Given the description of an element on the screen output the (x, y) to click on. 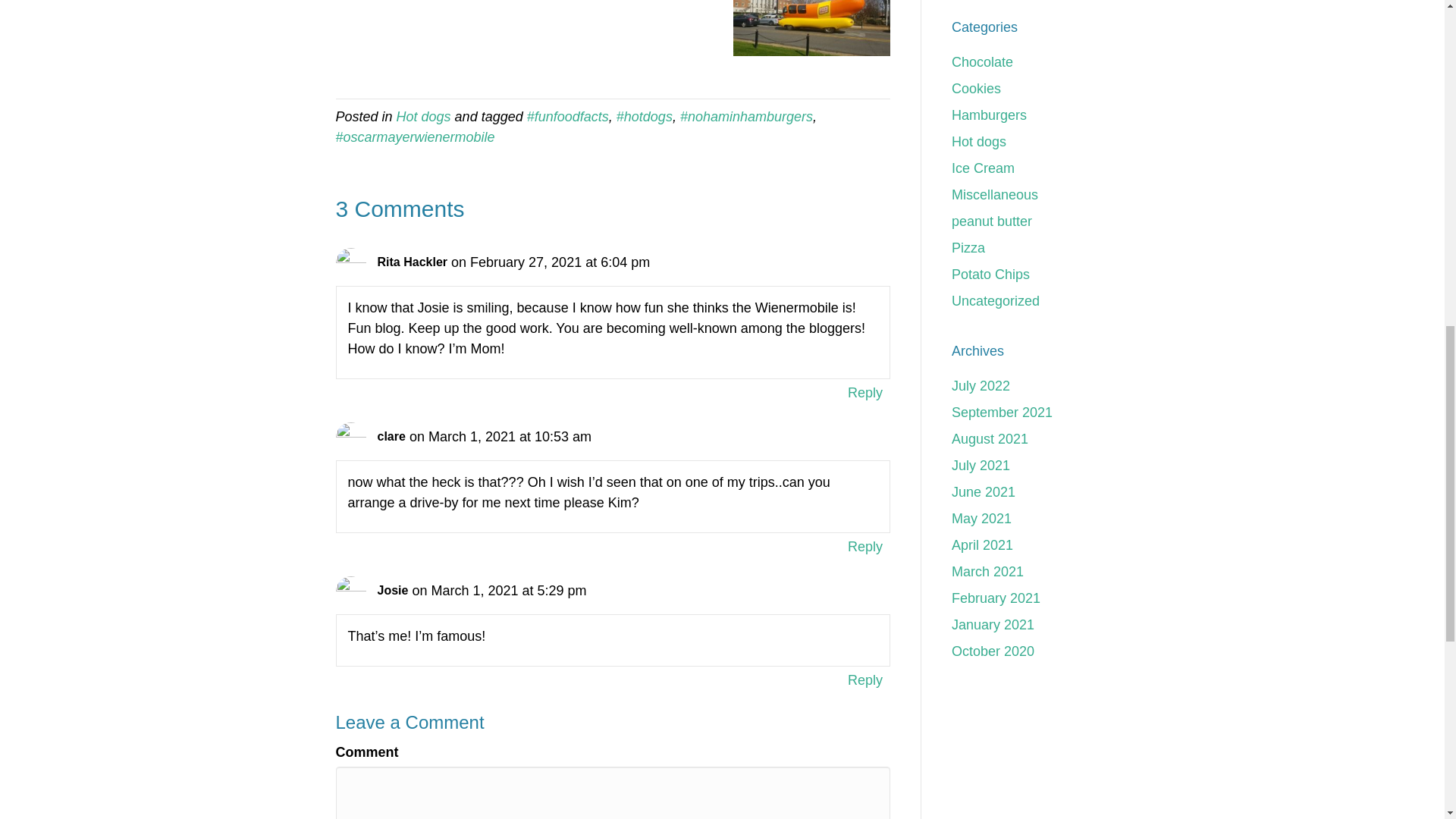
Pizza (968, 247)
Hot dogs (423, 116)
Miscellaneous (995, 194)
Hot dogs (979, 141)
Reply (865, 392)
Chocolate (982, 61)
Reply (865, 546)
Cookies (976, 88)
Hamburgers (989, 114)
Ice Cream (983, 168)
